Given the description of an element on the screen output the (x, y) to click on. 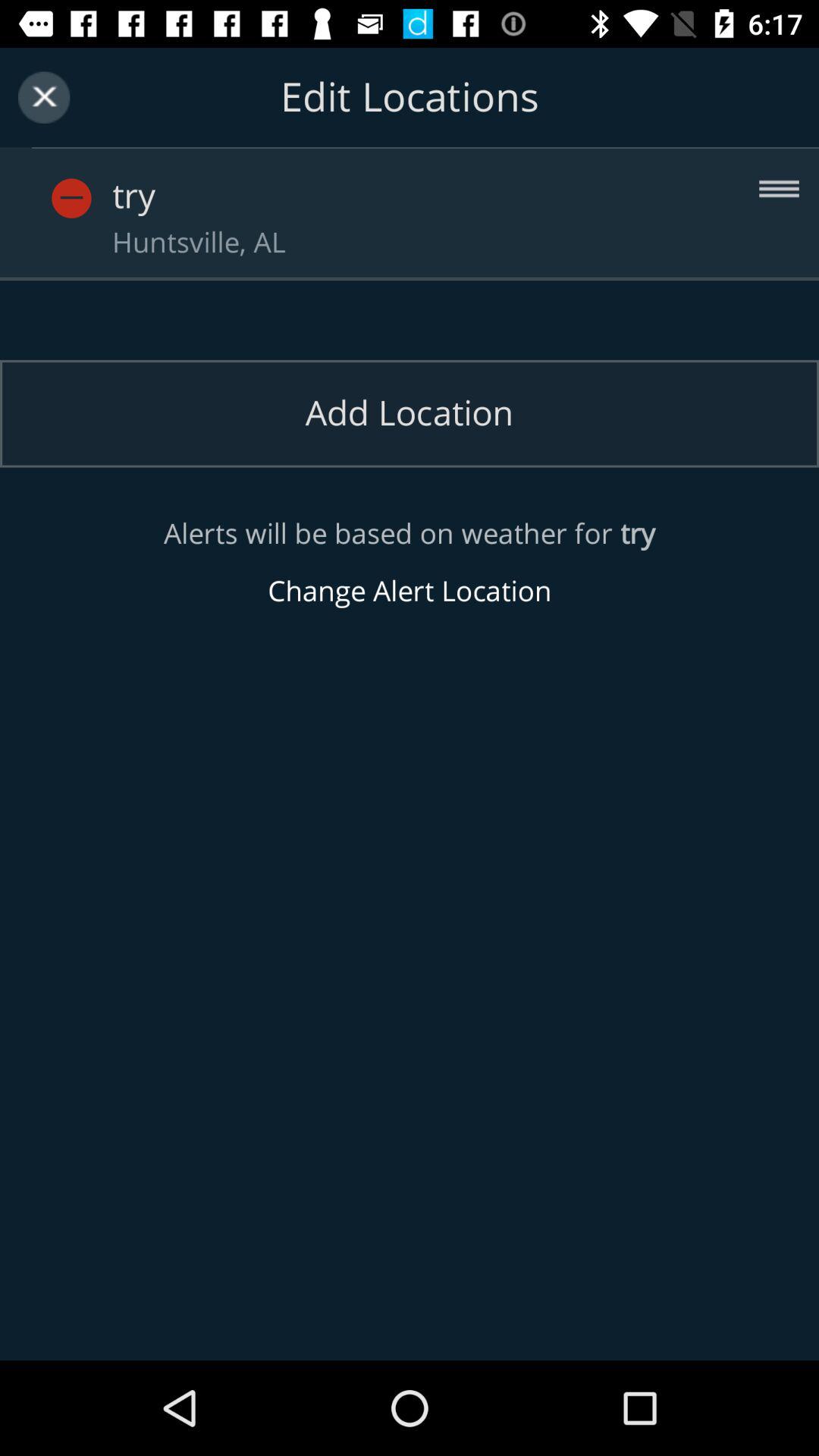
select item next to edit locations icon (43, 97)
